Given the description of an element on the screen output the (x, y) to click on. 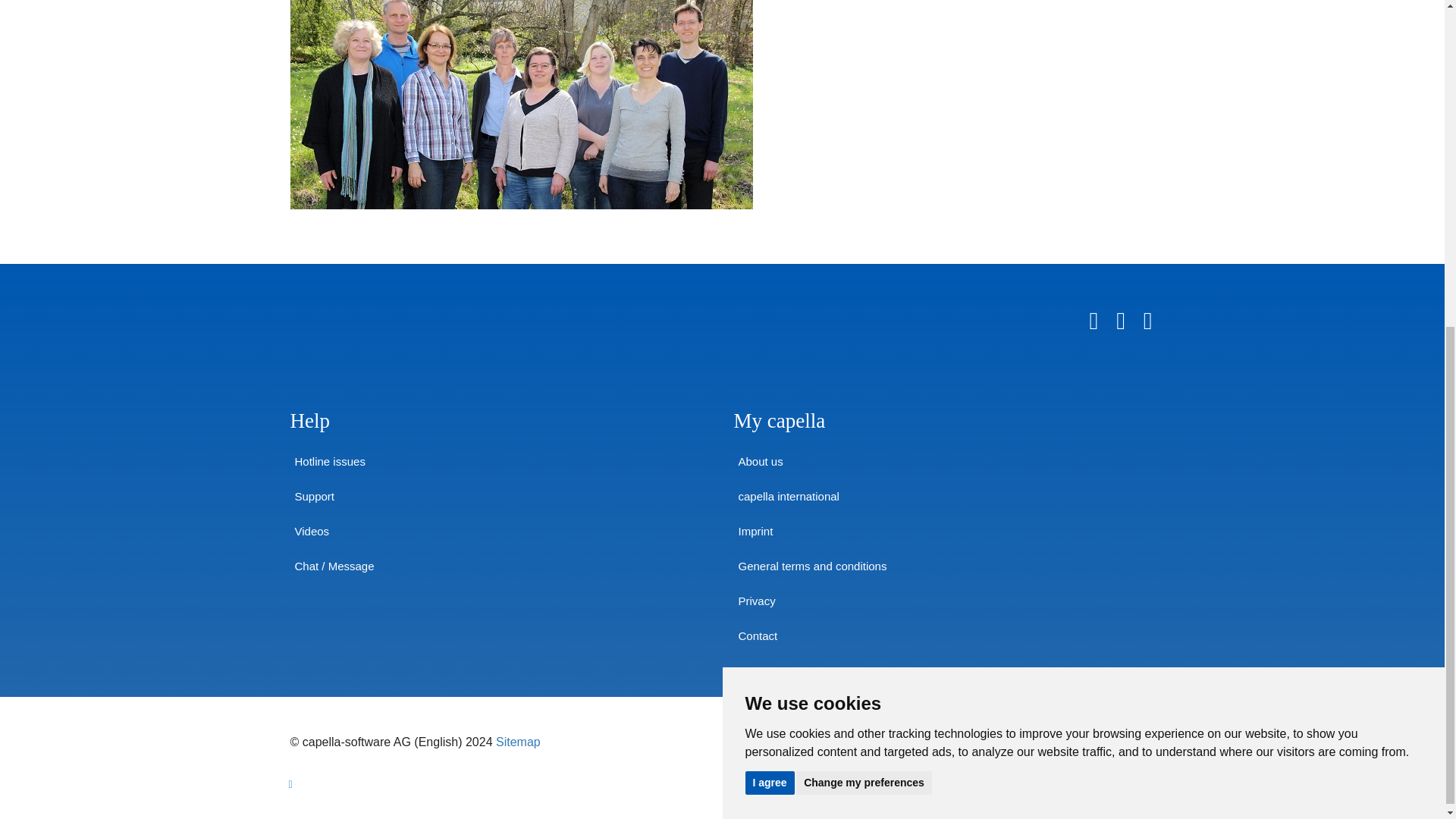
Change my preferences (863, 238)
I agree (768, 238)
